Given the description of an element on the screen output the (x, y) to click on. 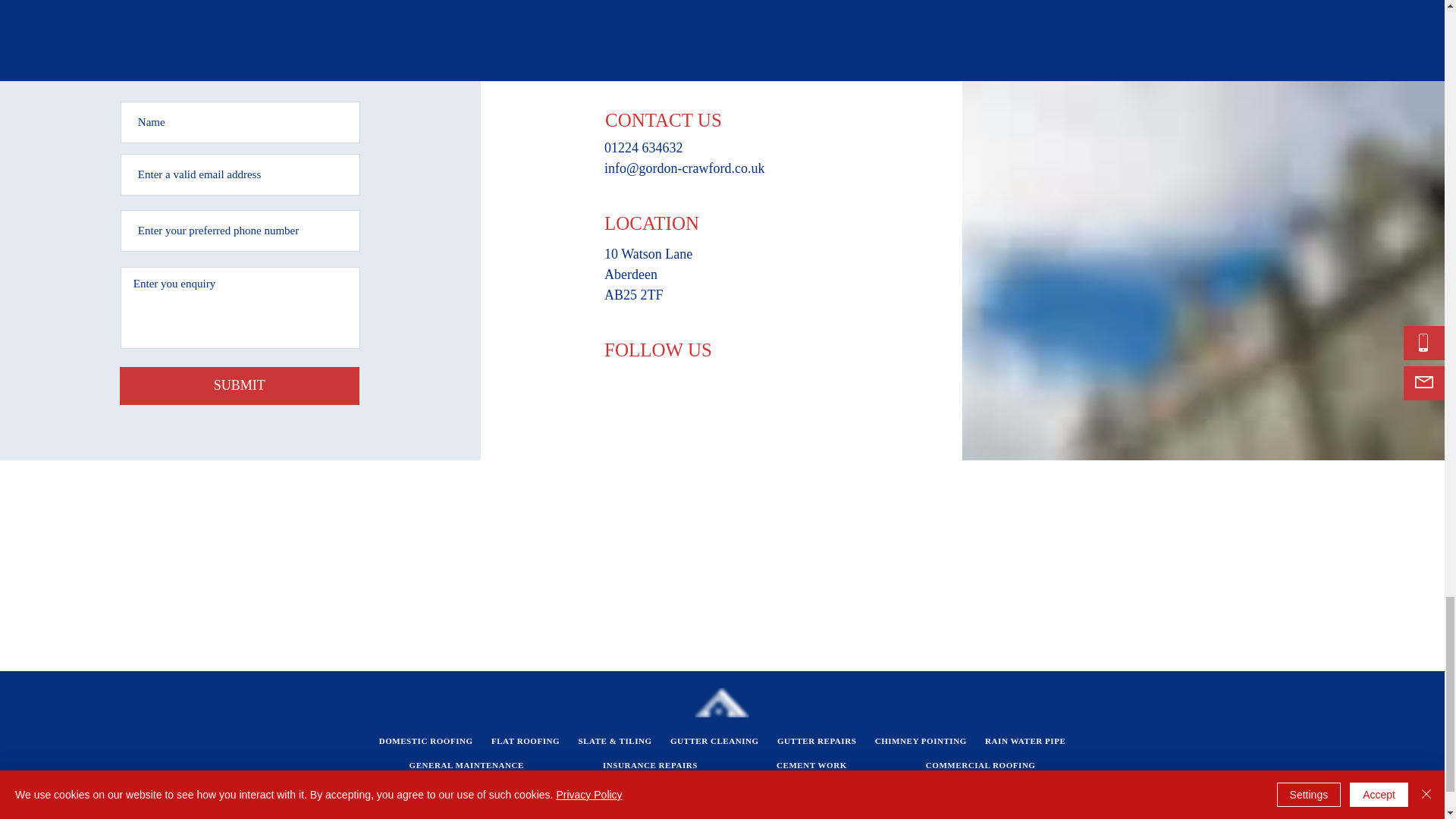
FLAT ROOFING (525, 740)
INSURANCE REPAIRS (649, 764)
GENERAL MAINTENANCE (466, 764)
DOMESTIC ROOFING (425, 740)
CHIMNEY POINTING (920, 740)
SUBMIT (239, 385)
GUTTER CLEANING (714, 740)
RAIN WATER PIPE (1025, 740)
GUTTER REPAIRS (817, 740)
